Given the description of an element on the screen output the (x, y) to click on. 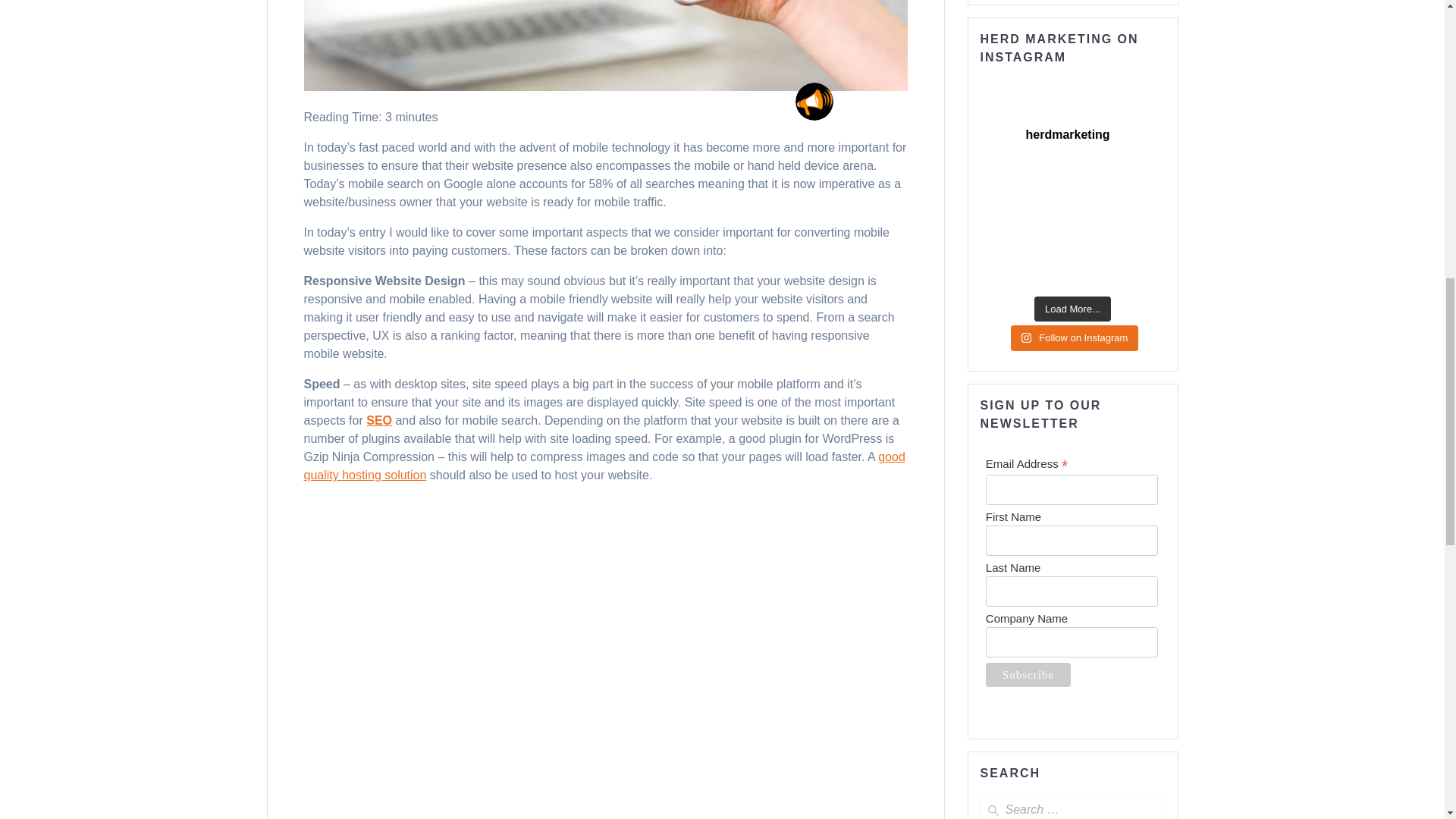
SEO (378, 420)
good quality hosting solution (603, 465)
Subscribe (1027, 674)
